Given the description of an element on the screen output the (x, y) to click on. 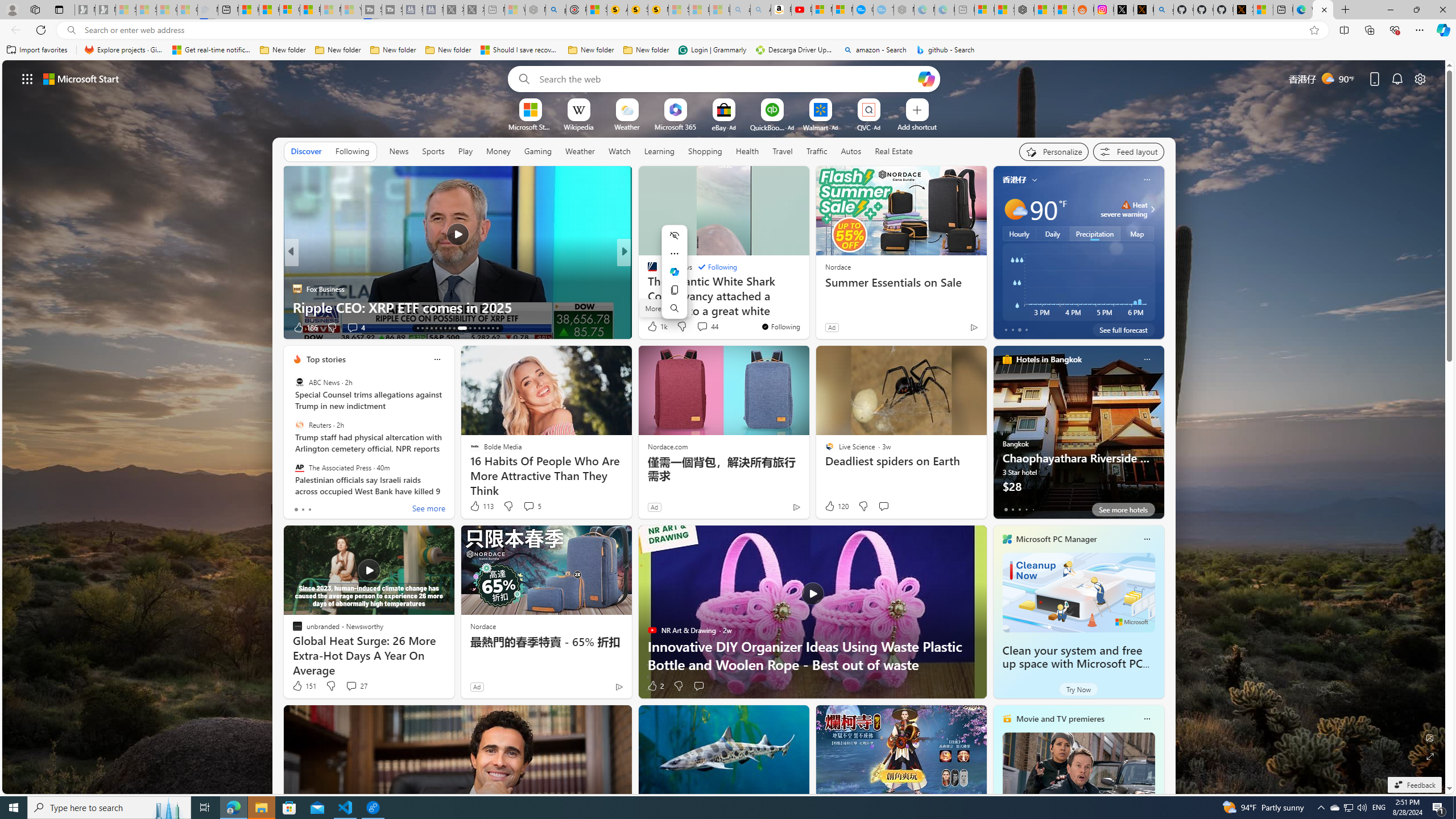
Feed settings (1128, 151)
Traffic (816, 151)
To get missing image descriptions, open the context menu. (529, 109)
Chaophayathara Riverside Hotel (1078, 436)
View comments 27 Comment (355, 685)
2 Like (655, 685)
Add this page to favorites (Ctrl+D) (1314, 29)
AutomationID: tab-29 (497, 328)
View comments 27 Comment (350, 685)
The Weather Channel (647, 270)
X Privacy Policy (1242, 9)
186 Like (304, 327)
Shanghai, China Weather trends | Microsoft Weather (1063, 9)
Copilot (Ctrl+Shift+.) (1442, 29)
